Given the description of an element on the screen output the (x, y) to click on. 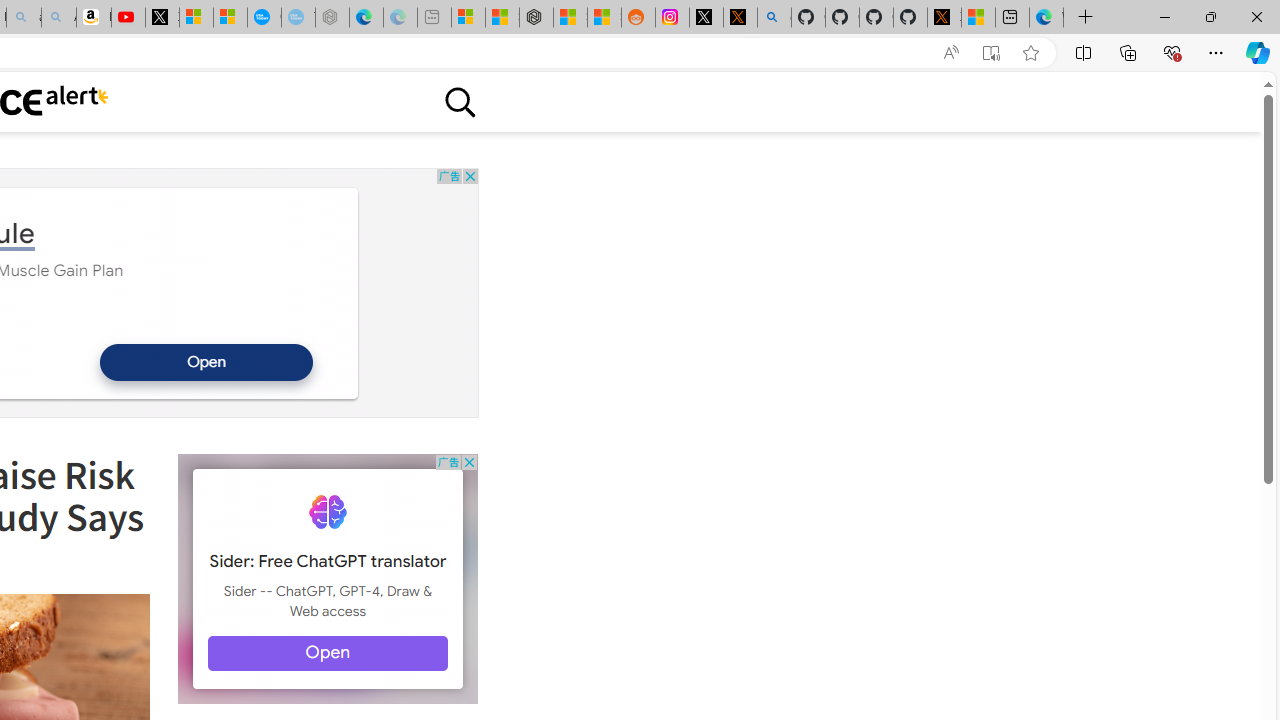
X (162, 17)
Amazon Echo Dot PNG - Search Images - Sleeping (58, 17)
Microsoft account | Microsoft Account Privacy Settings (468, 17)
github - Search (774, 17)
Opinion: Op-Ed and Commentary - USA TODAY (264, 17)
Day 1: Arriving in Yemen (surreal to be here) - YouTube (127, 17)
Enter Immersive Reader (F9) (991, 53)
